Given the description of an element on the screen output the (x, y) to click on. 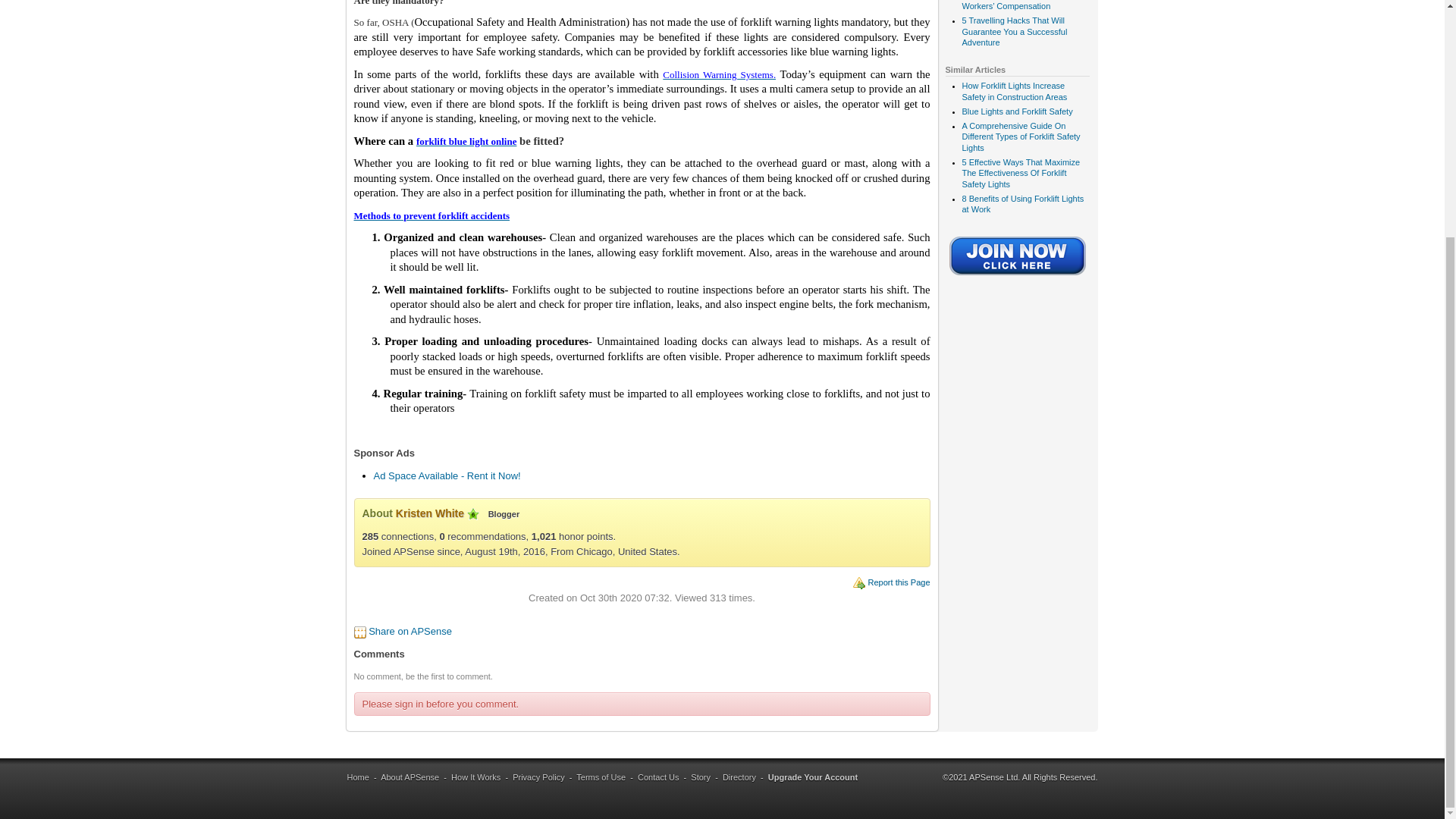
Ad Space Available - Rent it Now! (445, 475)
Share on APSense (409, 631)
How Forklift Lights Increase Safety in Construction Areas (1013, 90)
Share on APSense (409, 631)
Committed (473, 513)
Methods to prevent forklift accidents (431, 215)
8 Benefits of Using Forklift Lights at Work (1021, 203)
Report this Page (898, 582)
Blue Lights and Forklift Safety (1015, 111)
Kristen White (430, 512)
forklift blue light online (466, 141)
Collision Warning Systems. (719, 74)
